Given the description of an element on the screen output the (x, y) to click on. 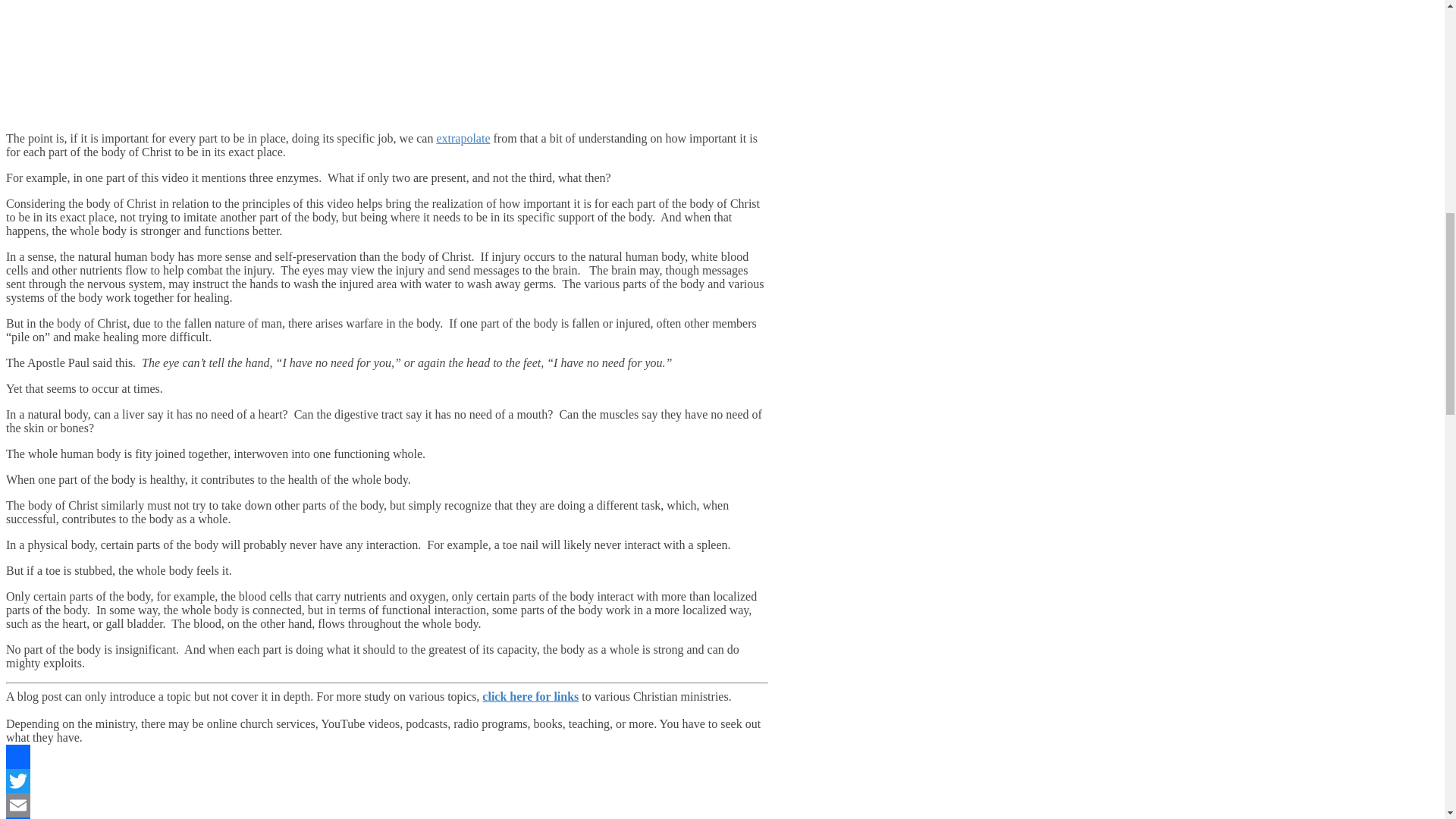
Facebook (386, 756)
Twitter (386, 781)
Email (386, 805)
Twitter (386, 781)
YouTube video player (217, 58)
Email (386, 805)
click here for links (529, 696)
extrapolate (462, 137)
Facebook (386, 756)
